Given the description of an element on the screen output the (x, y) to click on. 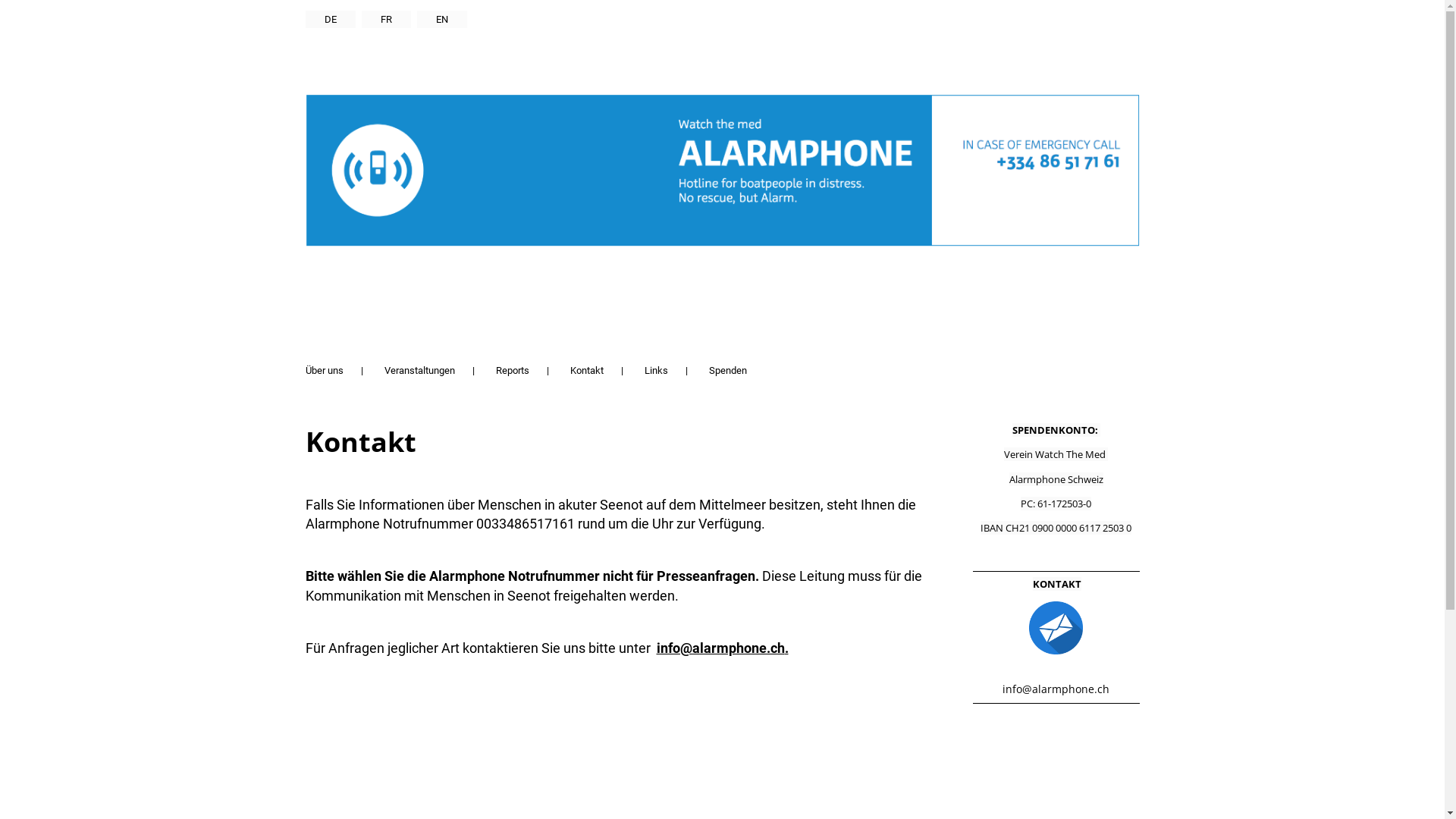
EN Element type: text (442, 19)
Spenden Element type: text (727, 370)
Reports Element type: text (512, 370)
FR Element type: text (385, 19)
info@alarmphone.ch. Element type: text (722, 647)
Kontakt Element type: text (586, 370)
Emailadresse Alarm Phone Schweiz Element type: hover (1055, 627)
Links Element type: text (656, 370)
DE Element type: text (329, 19)
Veranstaltungen Element type: text (418, 370)
